Given the description of an element on the screen output the (x, y) to click on. 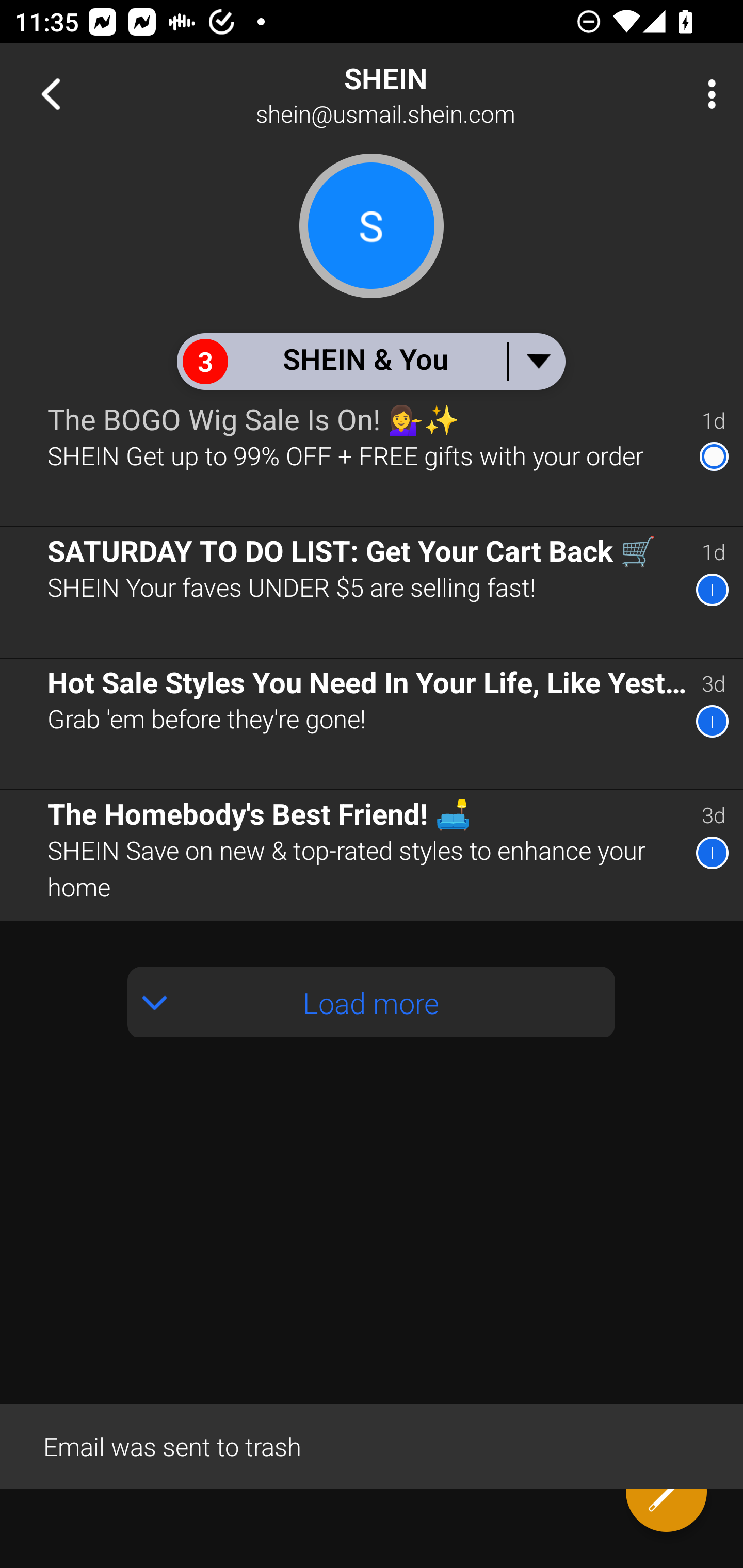
Navigate up (50, 93)
SHEIN shein@usmail.shein.com (436, 93)
More Options (706, 93)
3 SHEIN & You (370, 361)
Load more (371, 1001)
Email was sent to trash (371, 1445)
